Given the description of an element on the screen output the (x, y) to click on. 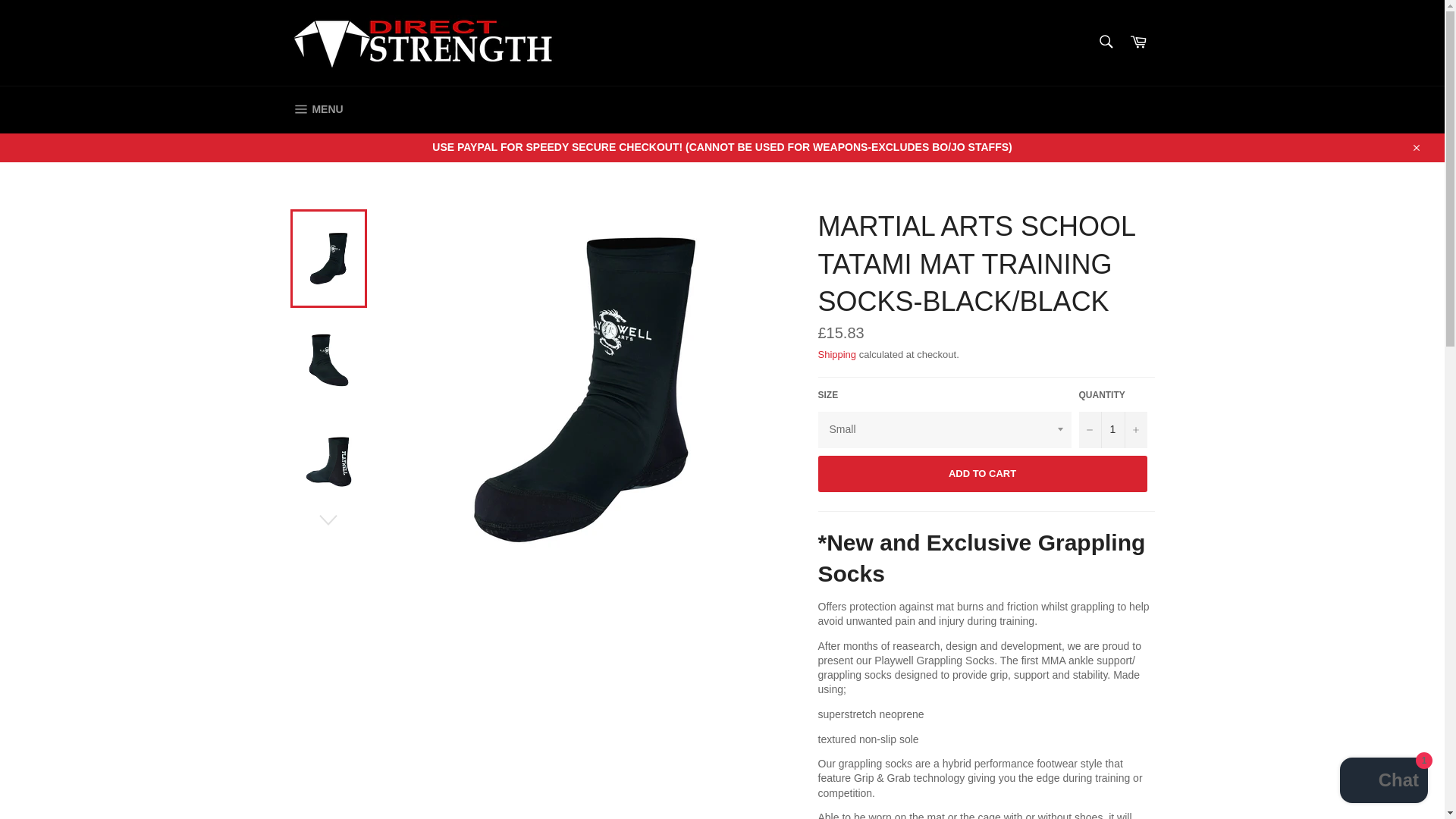
Shopify online store chat (1383, 781)
1 (1112, 429)
